Given the description of an element on the screen output the (x, y) to click on. 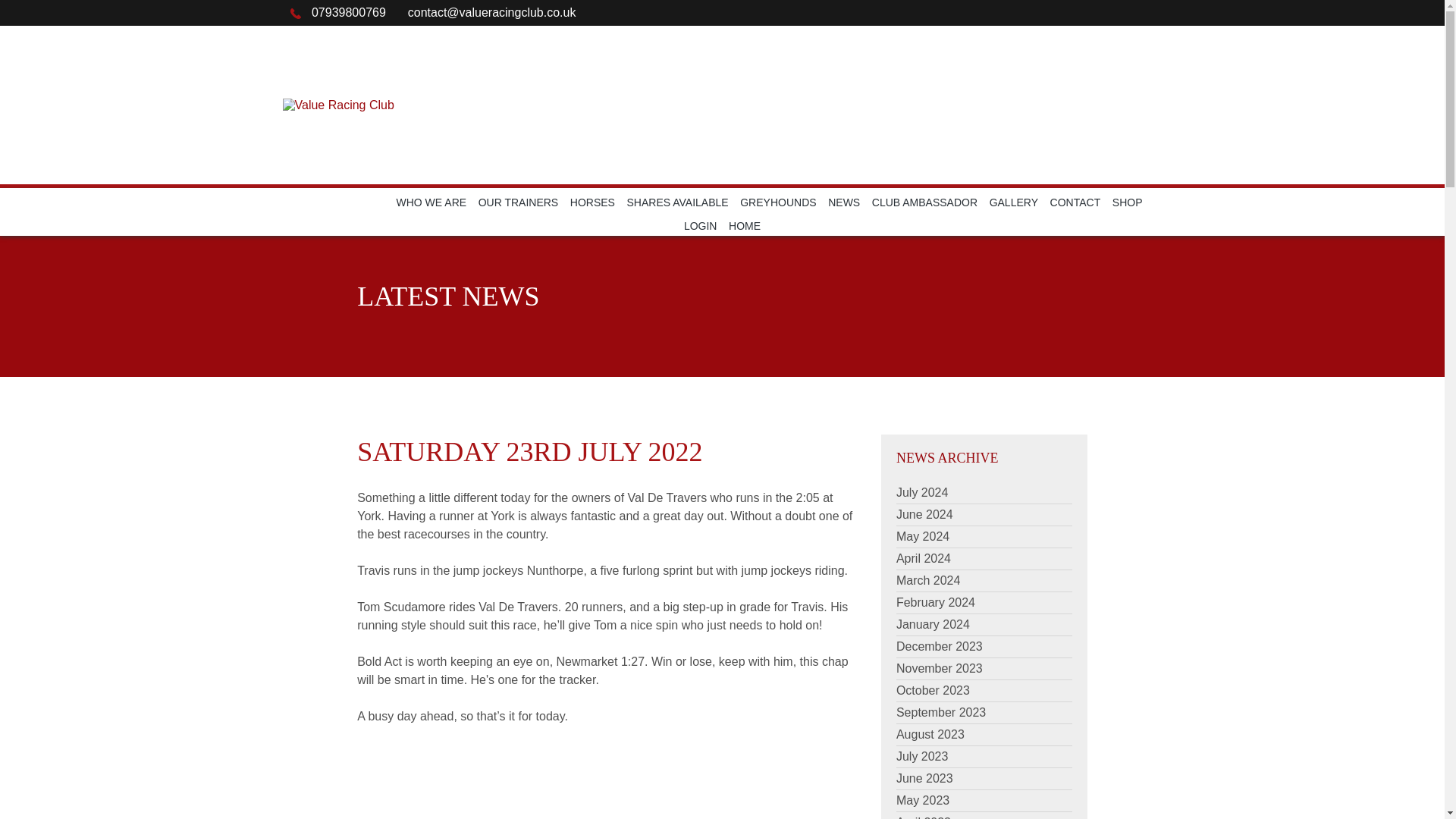
Horses (592, 202)
May 2024 (922, 535)
CLUB AMBASSADOR (924, 202)
July 2024 (922, 492)
Club ambassador (924, 202)
February 2024 (935, 602)
Shares Available (678, 202)
Who we are (431, 202)
Our Trainers (519, 202)
SHARES AVAILABLE (678, 202)
December 2023 (939, 645)
GREYHOUNDS (777, 202)
SHOP (1127, 202)
Gallery (1014, 202)
January 2024 (932, 624)
